Given the description of an element on the screen output the (x, y) to click on. 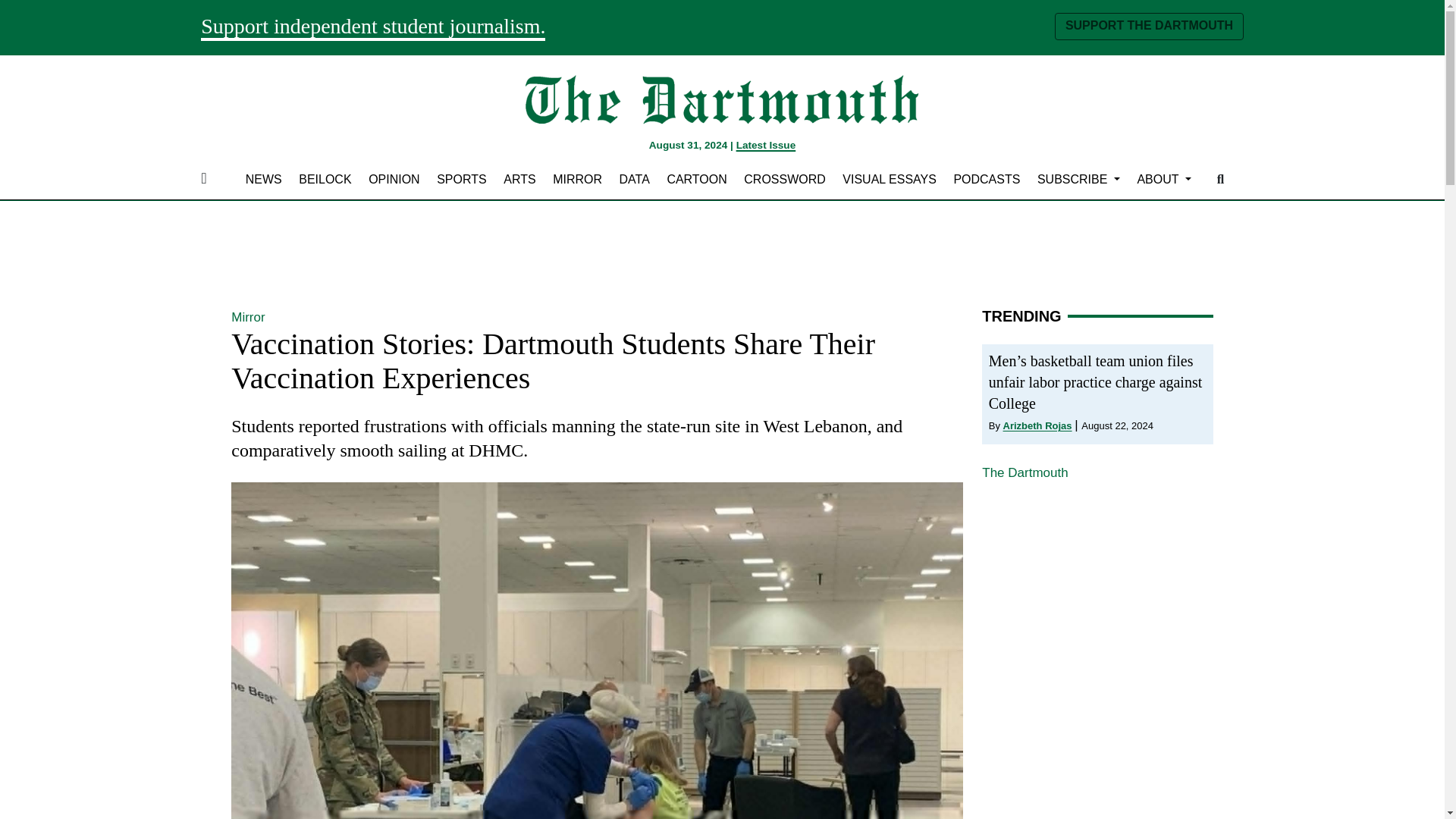
Arts (519, 179)
Mirror (577, 179)
Cartoon (697, 179)
Podcasts (986, 179)
SPORTS (461, 179)
Latest Issue (766, 144)
ARTS (519, 179)
Sports (461, 179)
OPINION (394, 179)
DATA (634, 179)
